Given the description of an element on the screen output the (x, y) to click on. 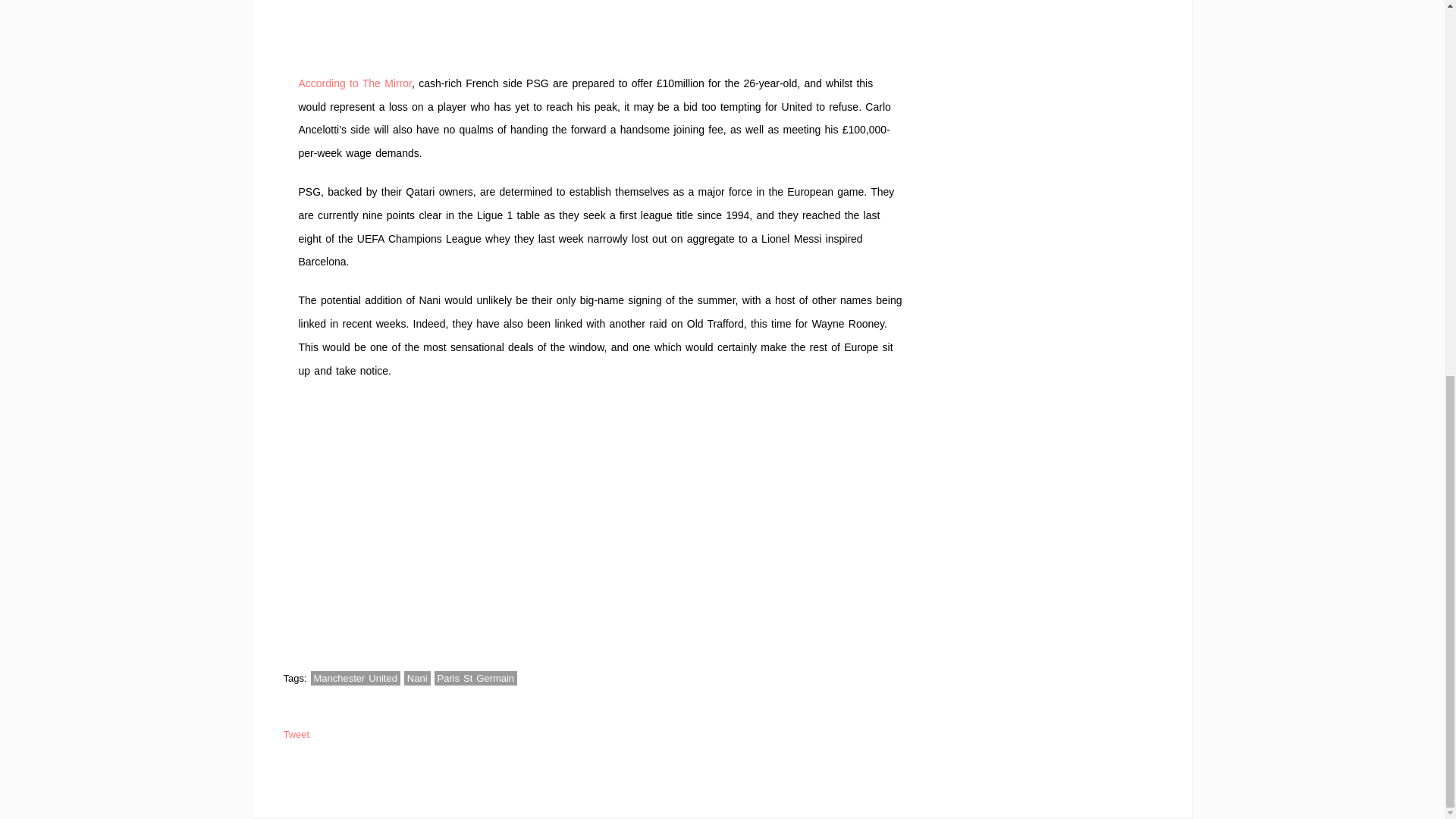
According to The Mirror (355, 82)
Paris St Germain (475, 677)
Nani (417, 677)
Manchester United (355, 677)
Tweet (296, 734)
